Given the description of an element on the screen output the (x, y) to click on. 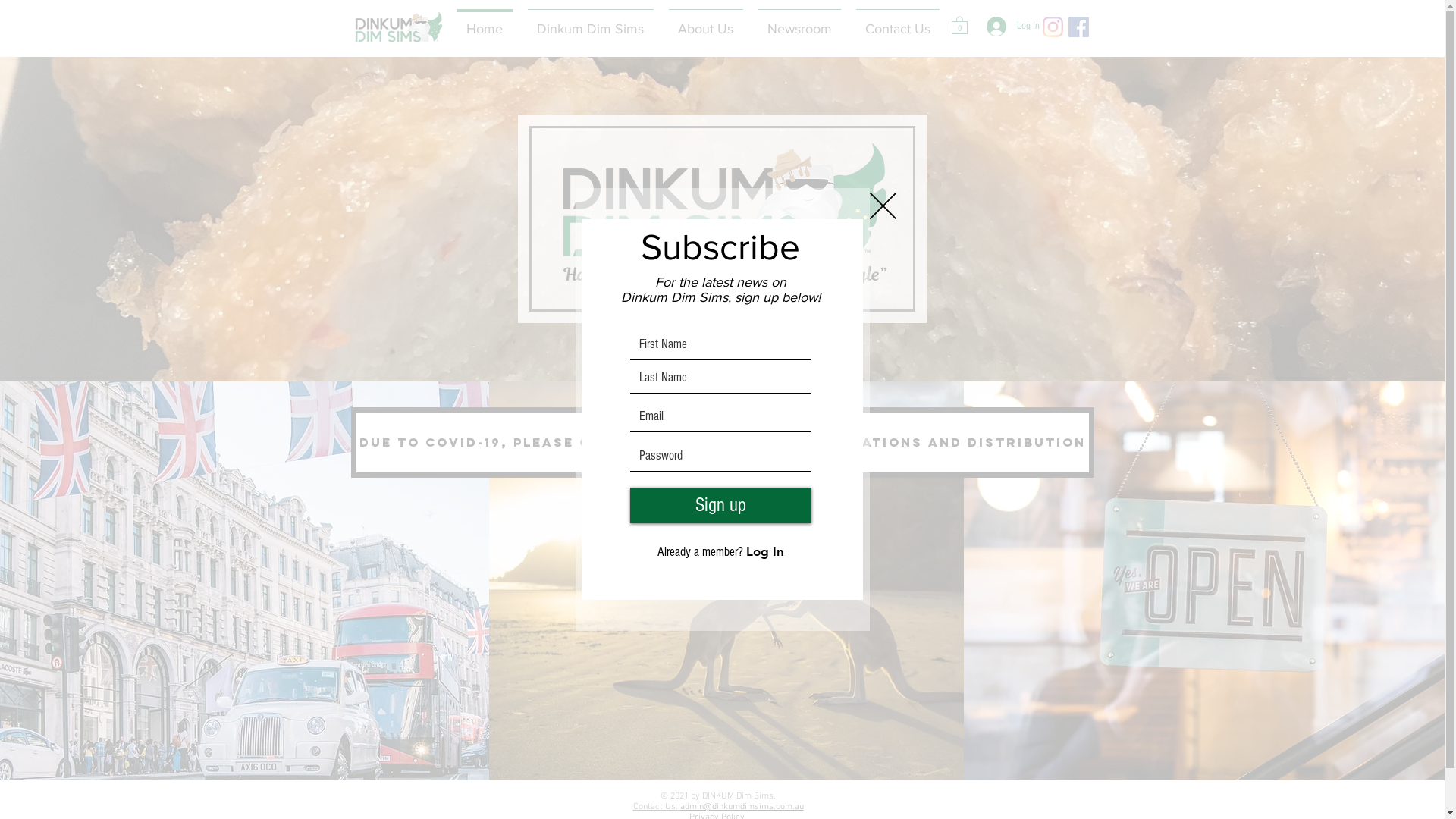
Sign up Element type: text (719, 505)
Home Element type: text (483, 21)
Newsroom Element type: text (799, 21)
About Us Element type: text (705, 21)
0 Element type: text (958, 24)
Log In Element type: text (1006, 26)
Contact Us: admin@dinkumdimsims.com.au Element type: text (717, 806)
Contact Us Element type: text (896, 21)
Back to site Element type: hover (882, 205)
Home Element type: hover (396, 27)
Dinkum Dim Sims Element type: text (590, 21)
